Given the description of an element on the screen output the (x, y) to click on. 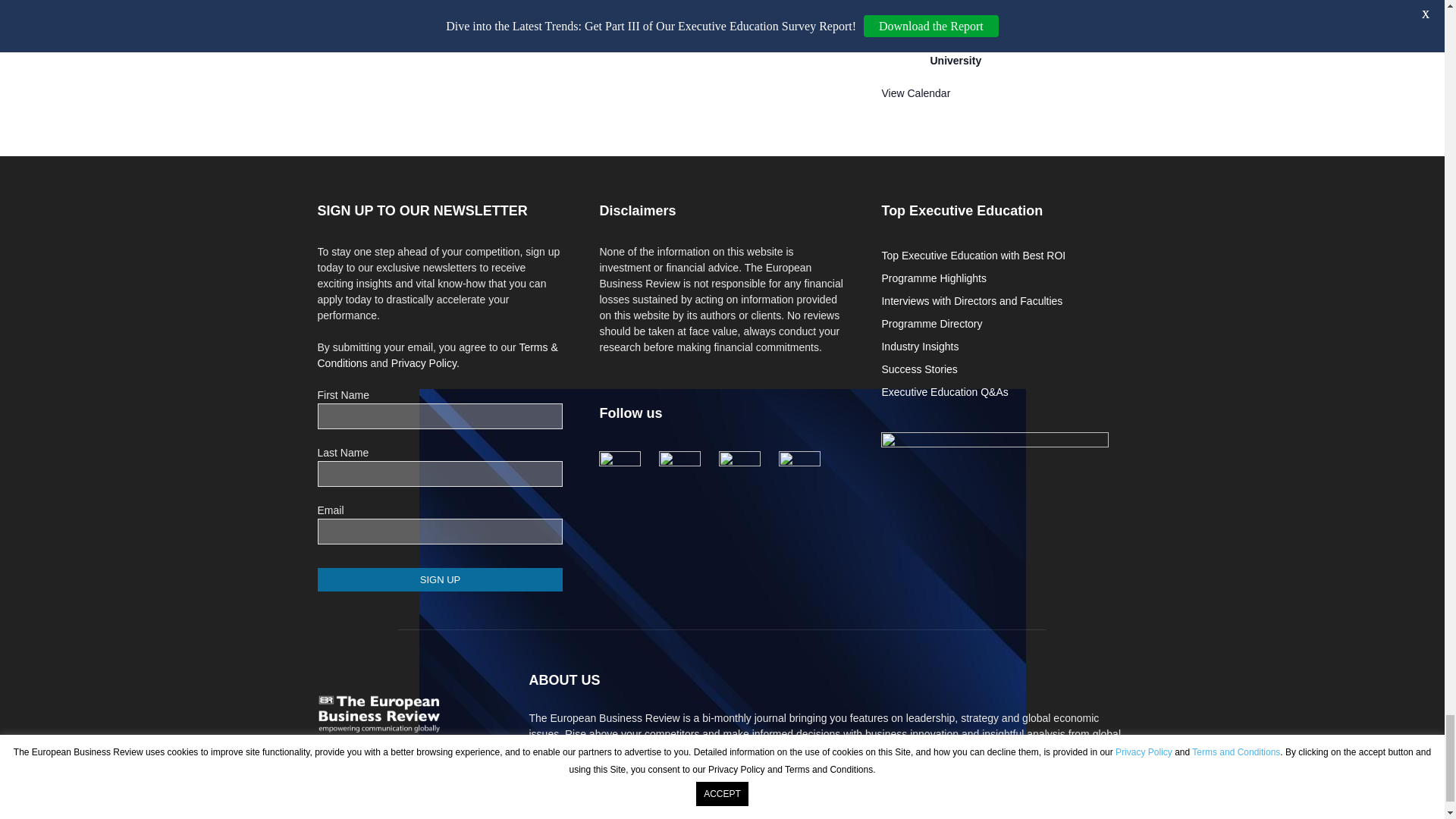
SIGN UP (439, 579)
